Given the description of an element on the screen output the (x, y) to click on. 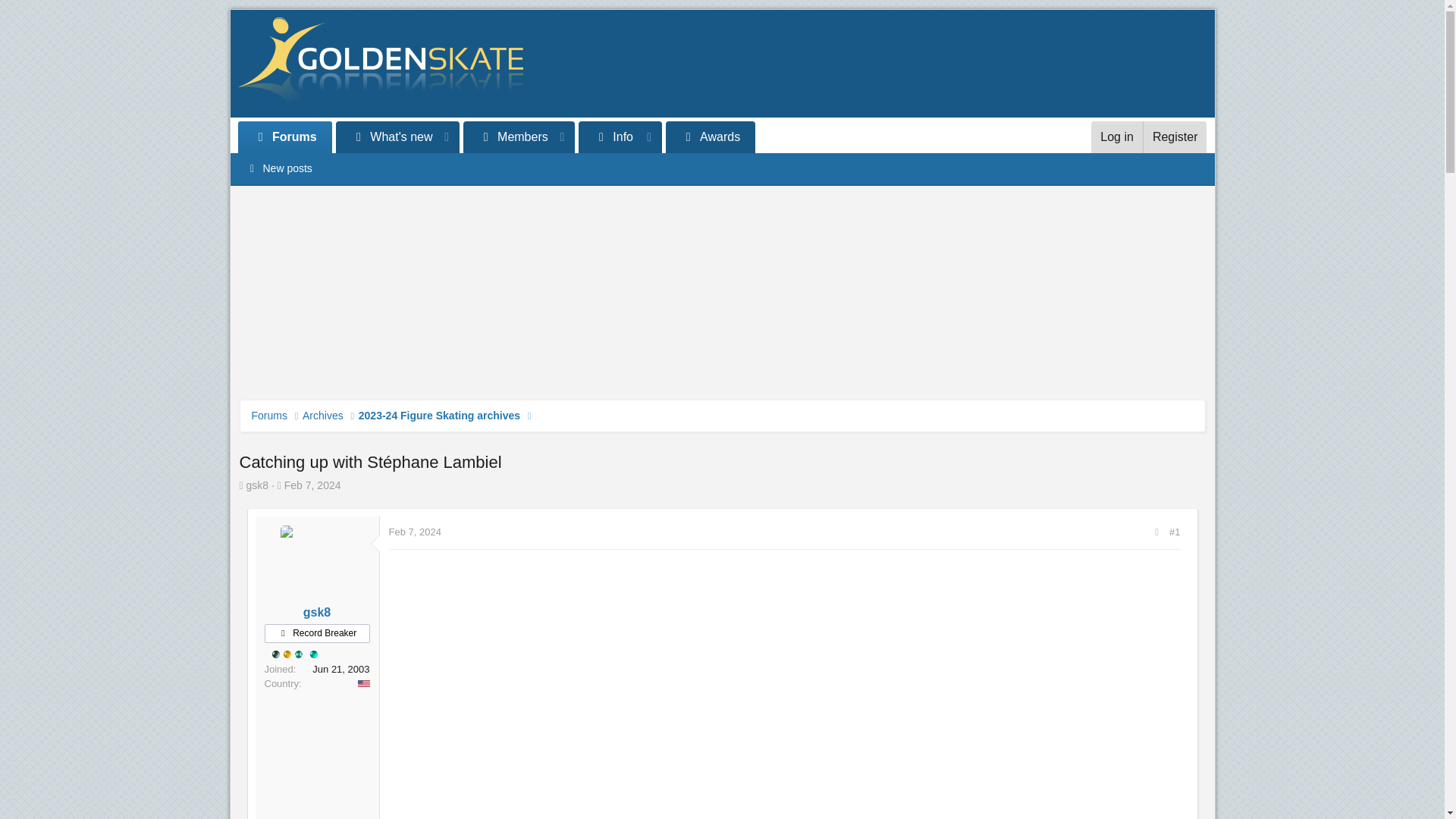
gsk8 (257, 485)
Register (1174, 137)
Forums (268, 415)
New posts (722, 168)
What's new (384, 137)
Info (620, 137)
Community II (274, 654)
gsk8 (316, 612)
Log in (1116, 137)
New posts (279, 168)
